Given the description of an element on the screen output the (x, y) to click on. 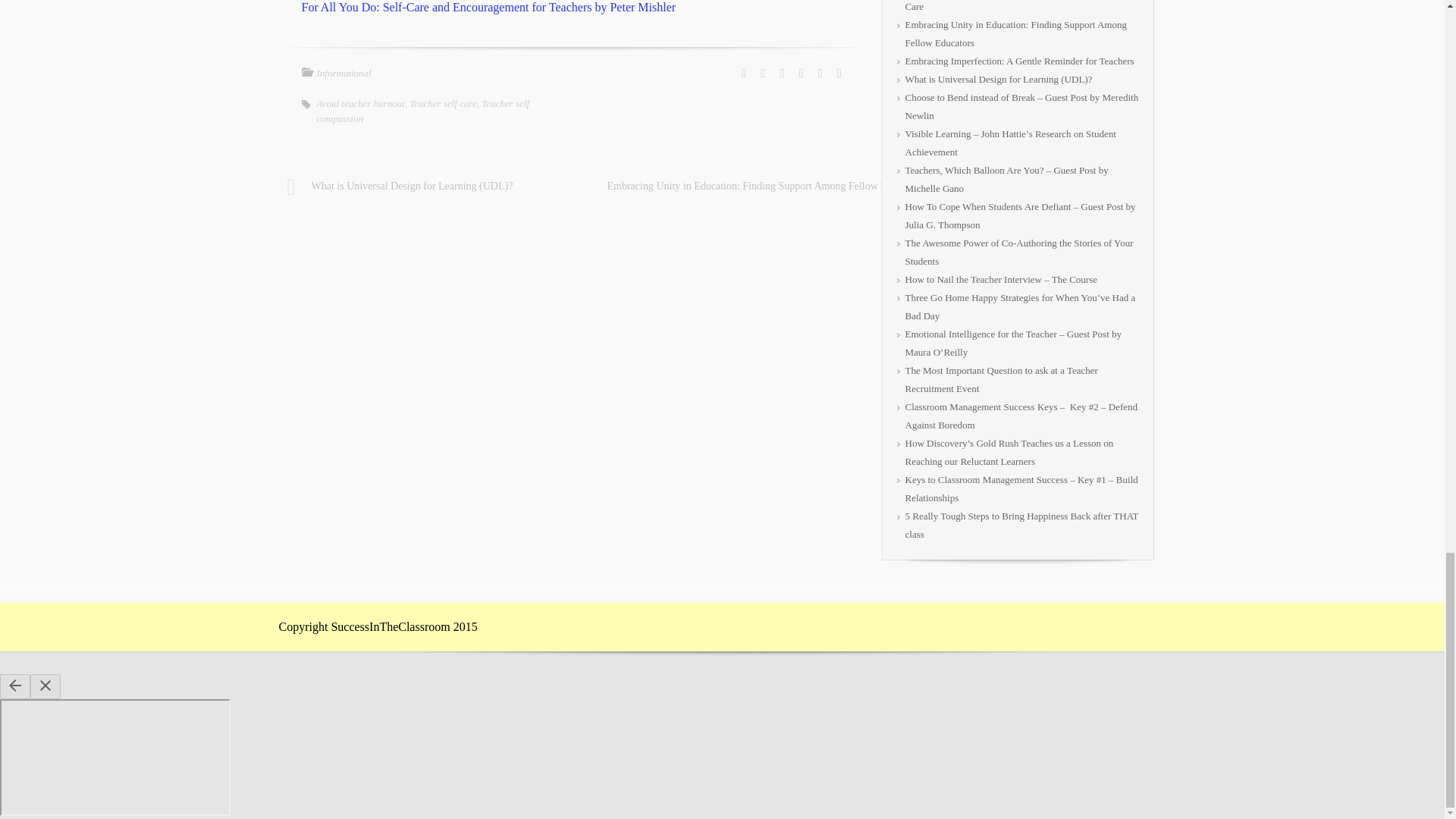
Informational (344, 72)
Avoid teacher burnout (360, 102)
Teacher self care (443, 102)
